Given the description of an element on the screen output the (x, y) to click on. 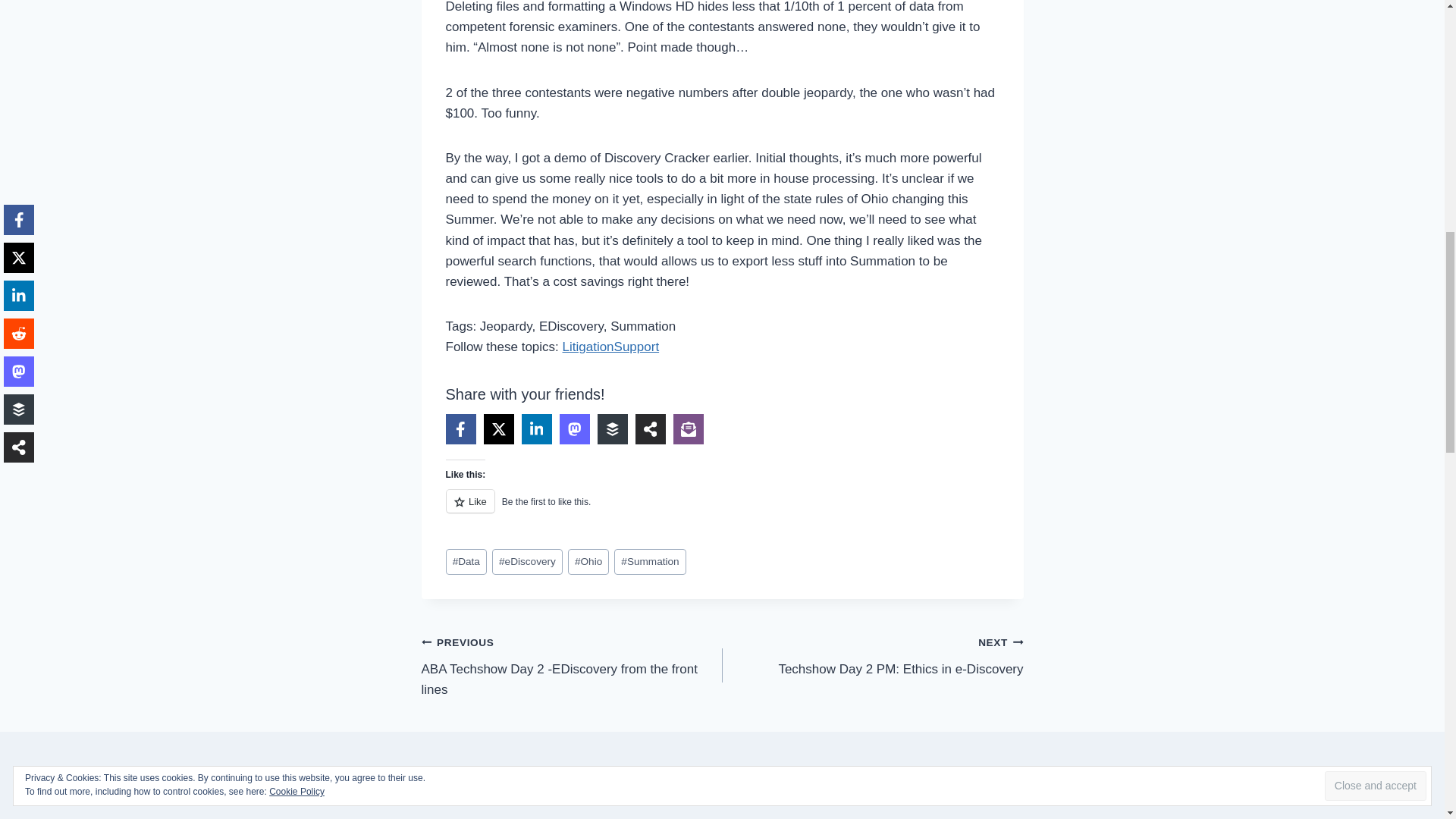
LitigationSupport (610, 346)
eDiscovery (527, 561)
Ohio (588, 561)
Data (466, 561)
Summation (649, 561)
Like or Reblog (721, 509)
